Given the description of an element on the screen output the (x, y) to click on. 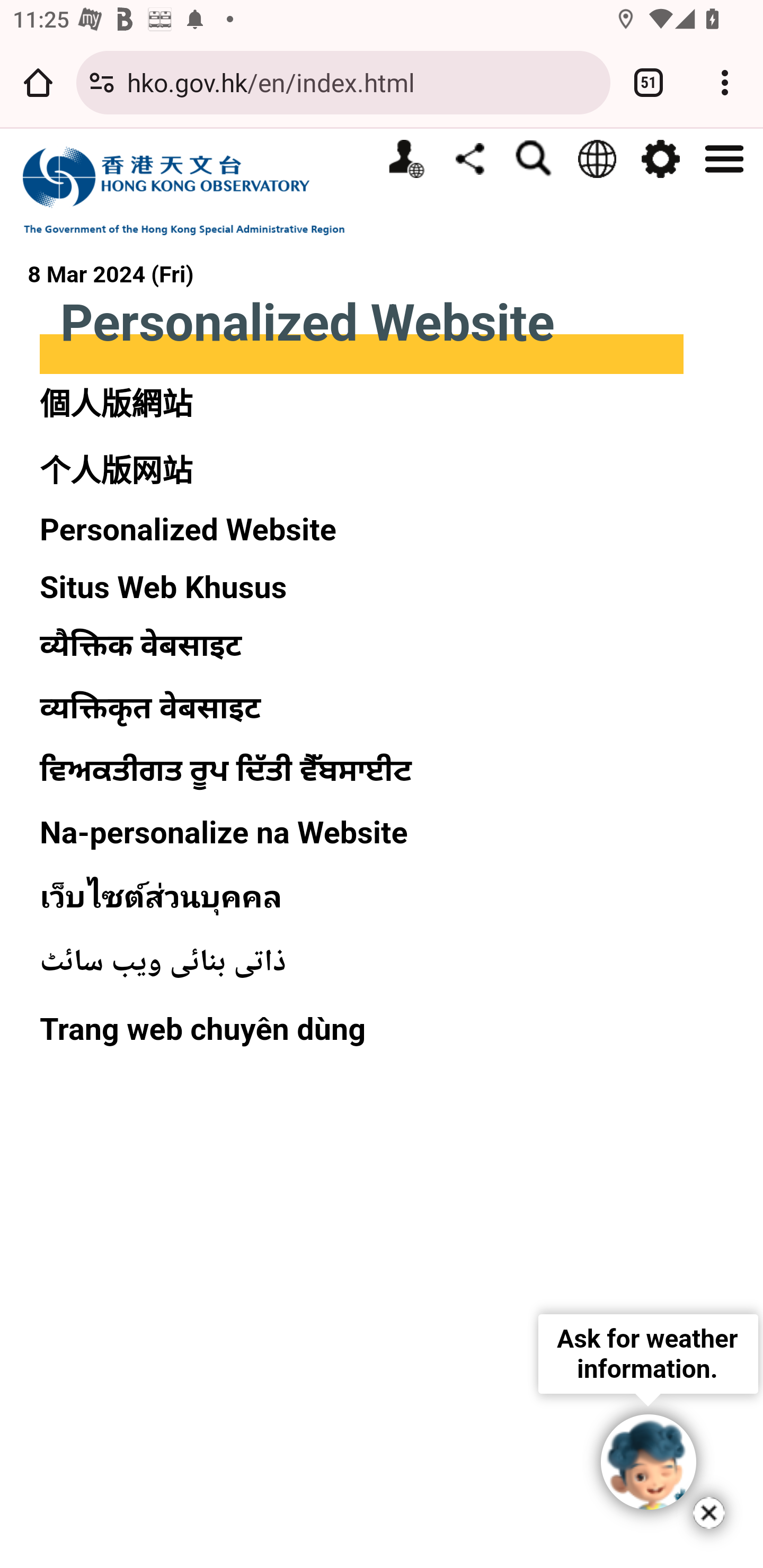
Open the home page (38, 82)
Connection is secure (101, 82)
Switch or close tabs (648, 82)
Customize and control Google Chrome (724, 82)
hko.gov.hk/en/index.html (362, 82)
Hong Kong Observatory (192, 190)
Personalized Website Personalized Website (405, 159)
Search Search (533, 159)
Language Language (596, 159)
Setting Setting (659, 159)
Share Share (469, 158)
Menu Menu (723, 157)
Chat with Dr. Tin (648, 1461)
Close (708, 1512)
